Given the description of an element on the screen output the (x, y) to click on. 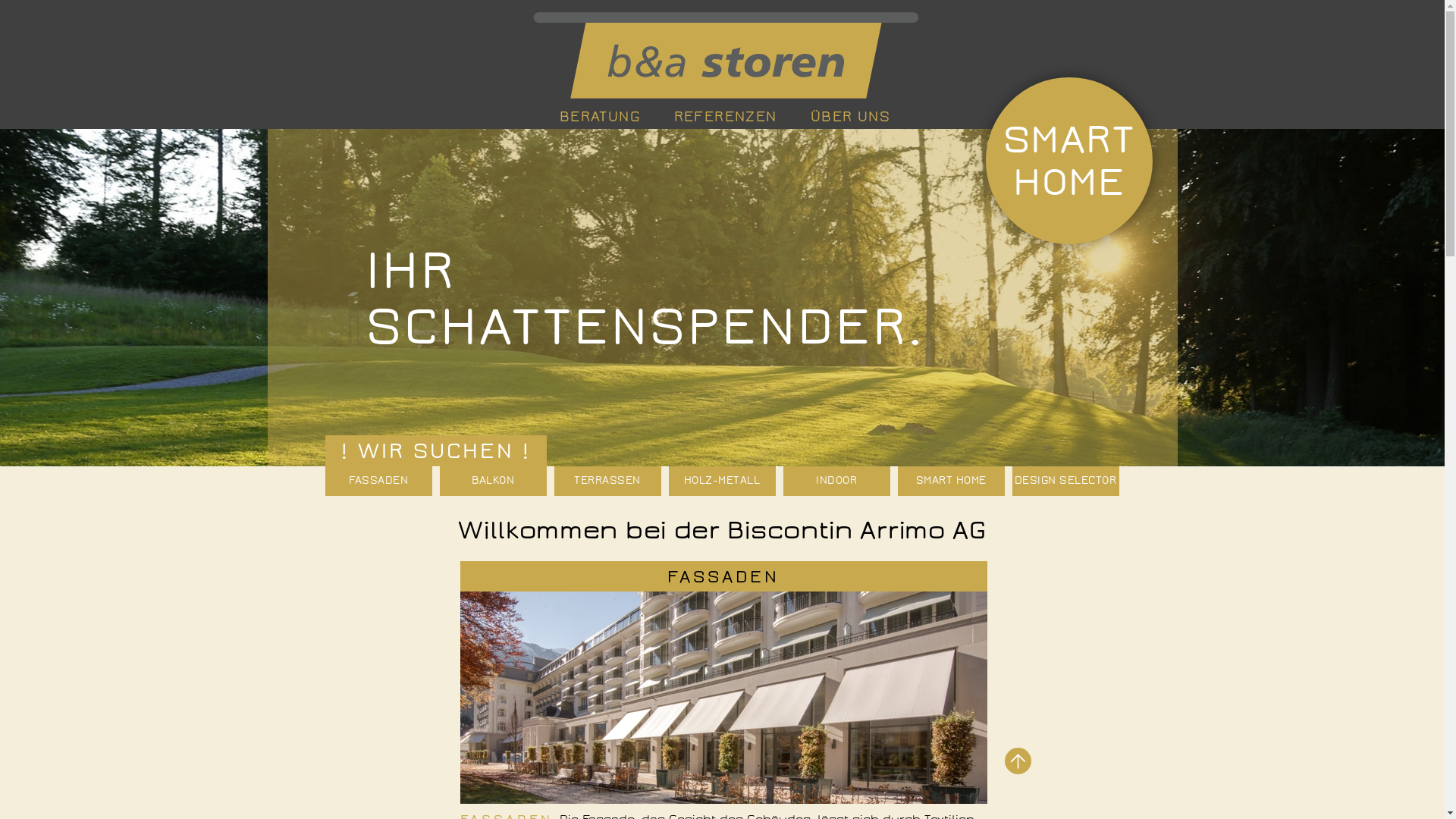
  Element type: text (1017, 760)
! WIR SUCHEN ! Element type: text (435, 450)
  Element type: text (722, 55)
FASSADEN Element type: text (722, 576)
